Given the description of an element on the screen output the (x, y) to click on. 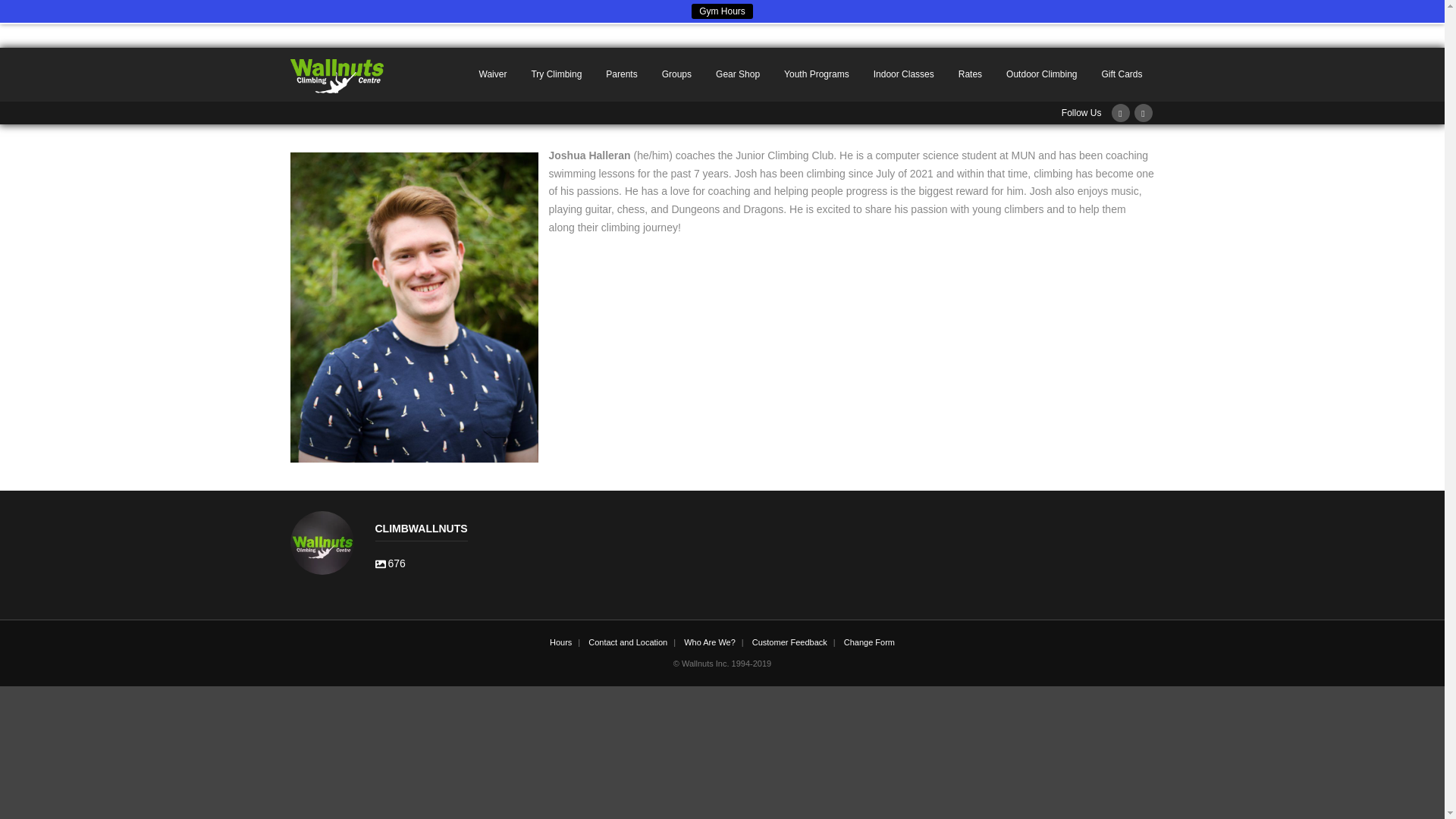
Try Climbing (556, 73)
Gym Hours (721, 542)
Waiver (721, 10)
Gear Shop (493, 73)
Outdoor Climbing (737, 73)
Youth Programs (1041, 73)
Gift Cards (816, 73)
Indoor Classes (1121, 73)
Rates (903, 73)
